Given the description of an element on the screen output the (x, y) to click on. 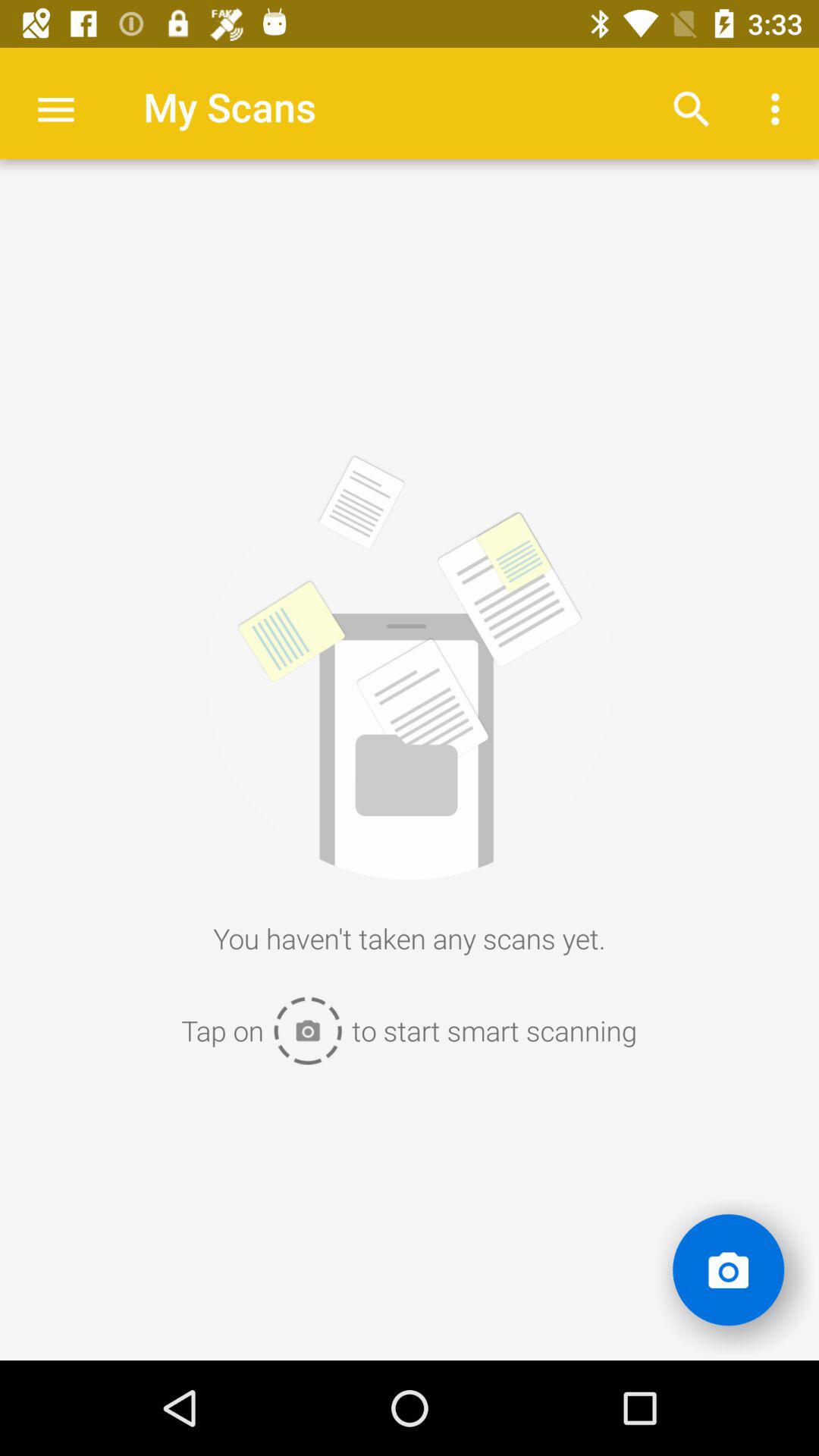
click on text beside to menu icon (229, 105)
click on more button at top right (779, 109)
